Given the description of an element on the screen output the (x, y) to click on. 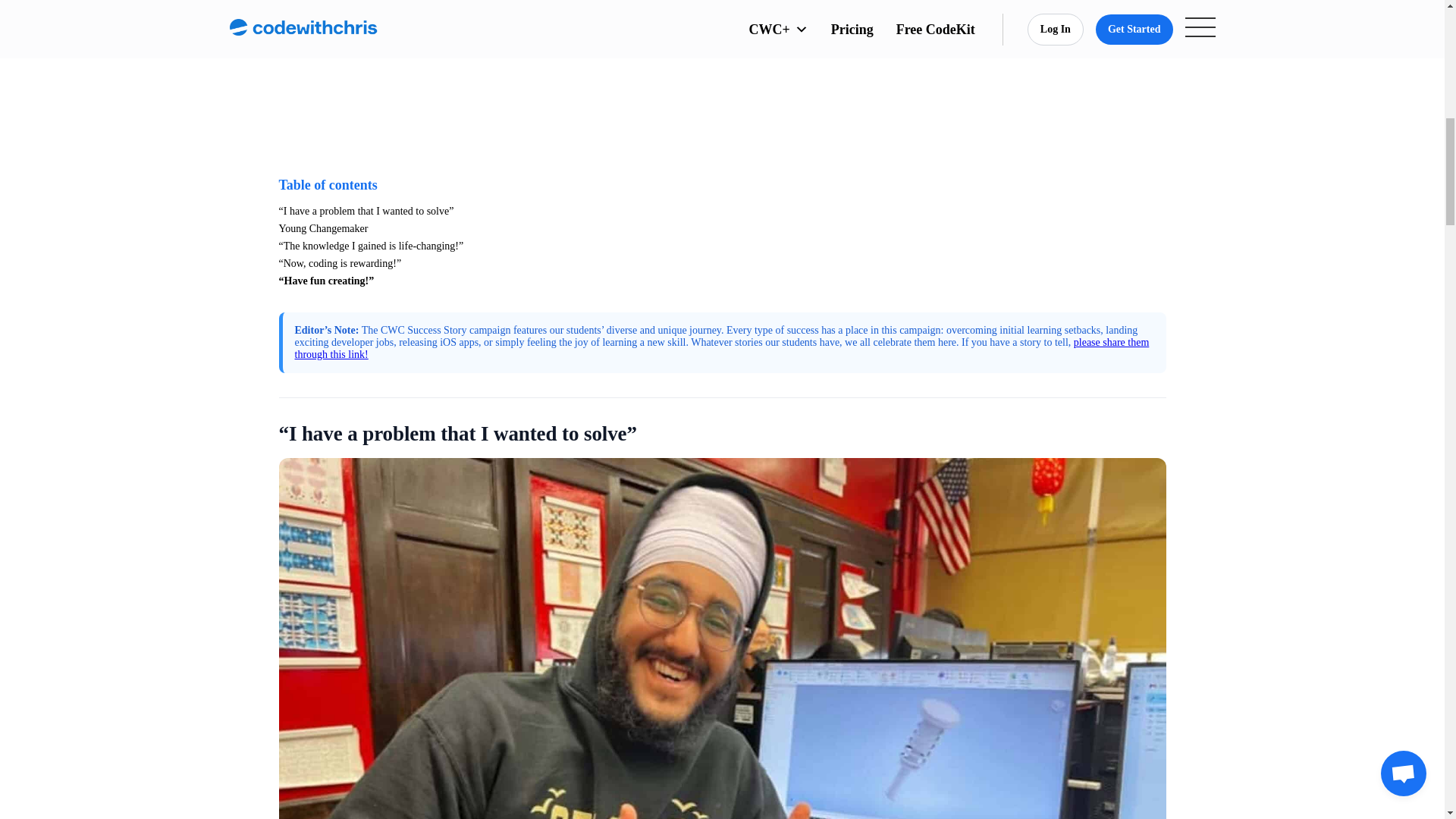
Young Changemaker (323, 228)
please share them through this link! (721, 348)
